Given the description of an element on the screen output the (x, y) to click on. 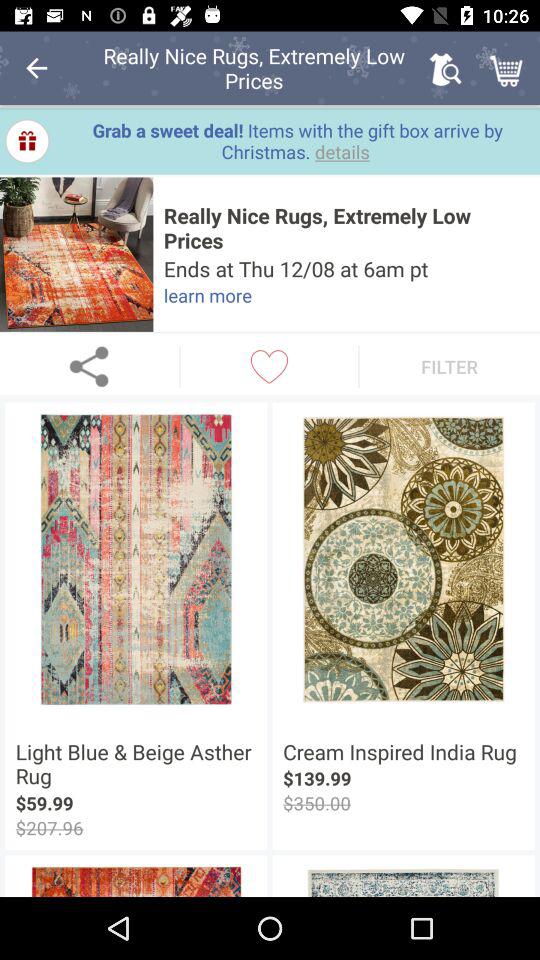
share the article (89, 366)
